Given the description of an element on the screen output the (x, y) to click on. 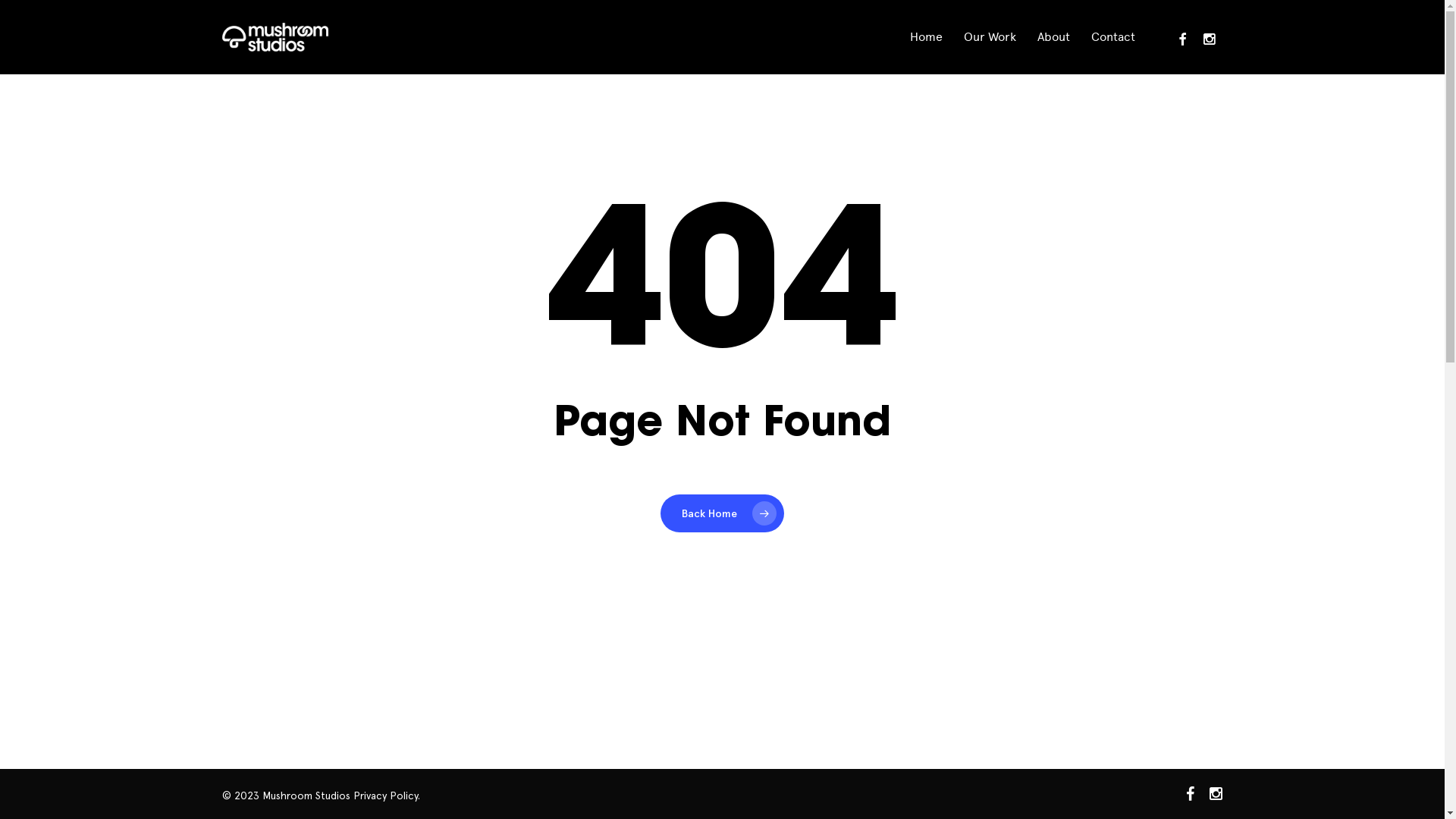
Our Work Element type: text (989, 37)
Privacy Policy Element type: text (385, 795)
instagram Element type: text (1208, 36)
facebook Element type: text (1190, 793)
Back Home Element type: text (722, 513)
Contact Element type: text (1112, 37)
facebook Element type: text (1181, 36)
Home Element type: text (926, 37)
About Element type: text (1053, 37)
instagram Element type: text (1215, 793)
